Given the description of an element on the screen output the (x, y) to click on. 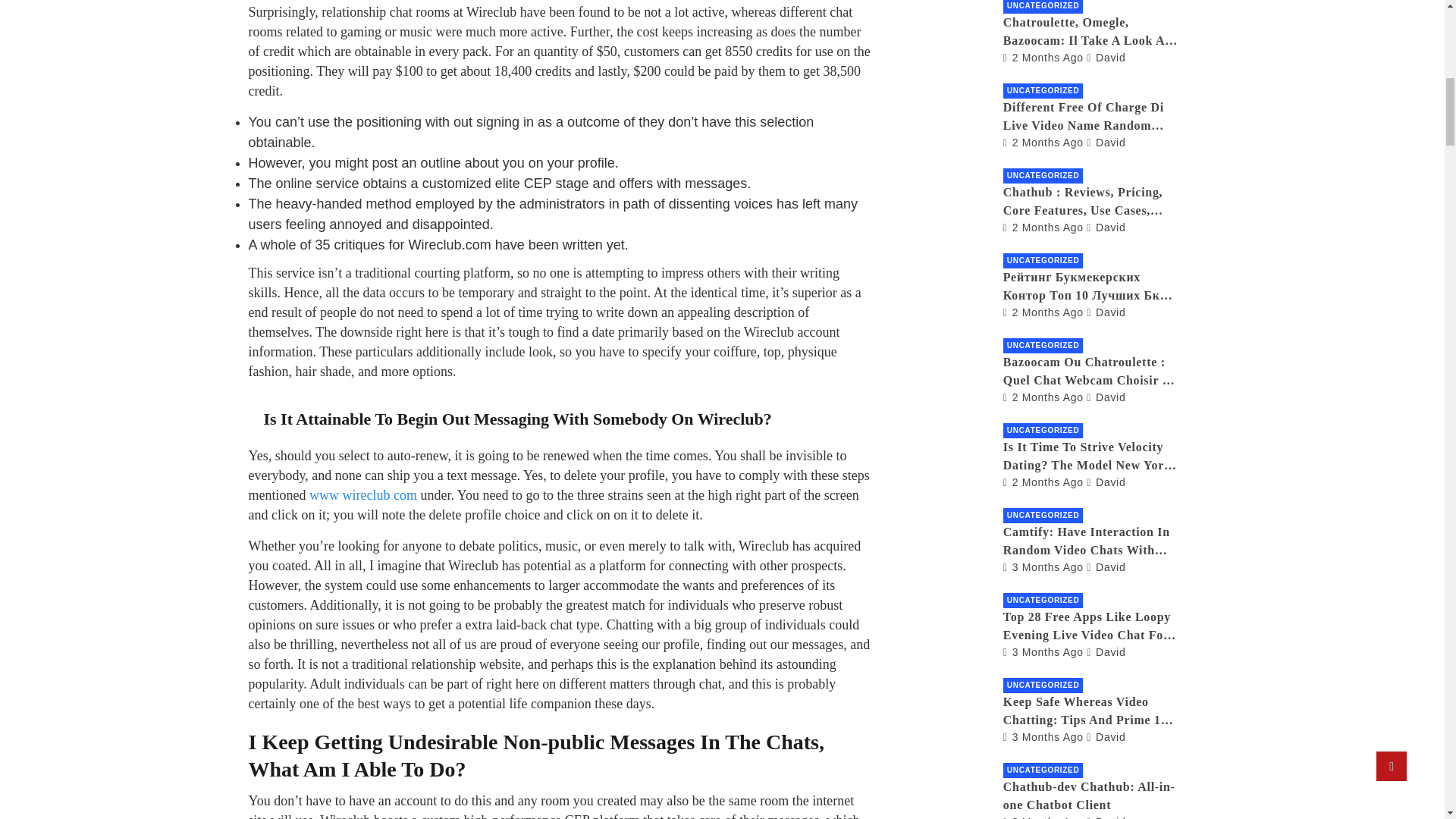
www wireclub com (362, 494)
